Given the description of an element on the screen output the (x, y) to click on. 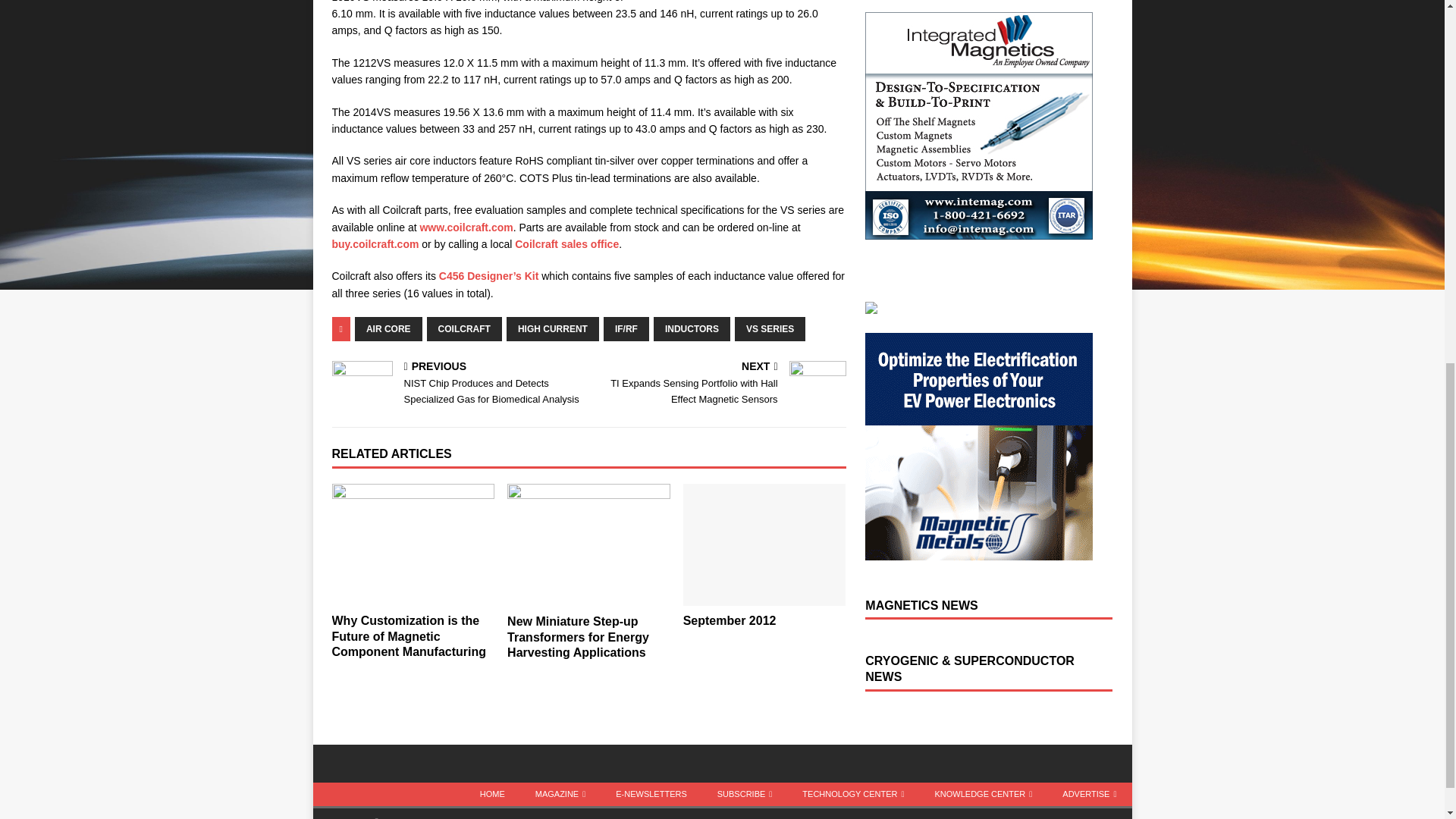
September 2012 (729, 620)
September 2012 (763, 545)
